Given the description of an element on the screen output the (x, y) to click on. 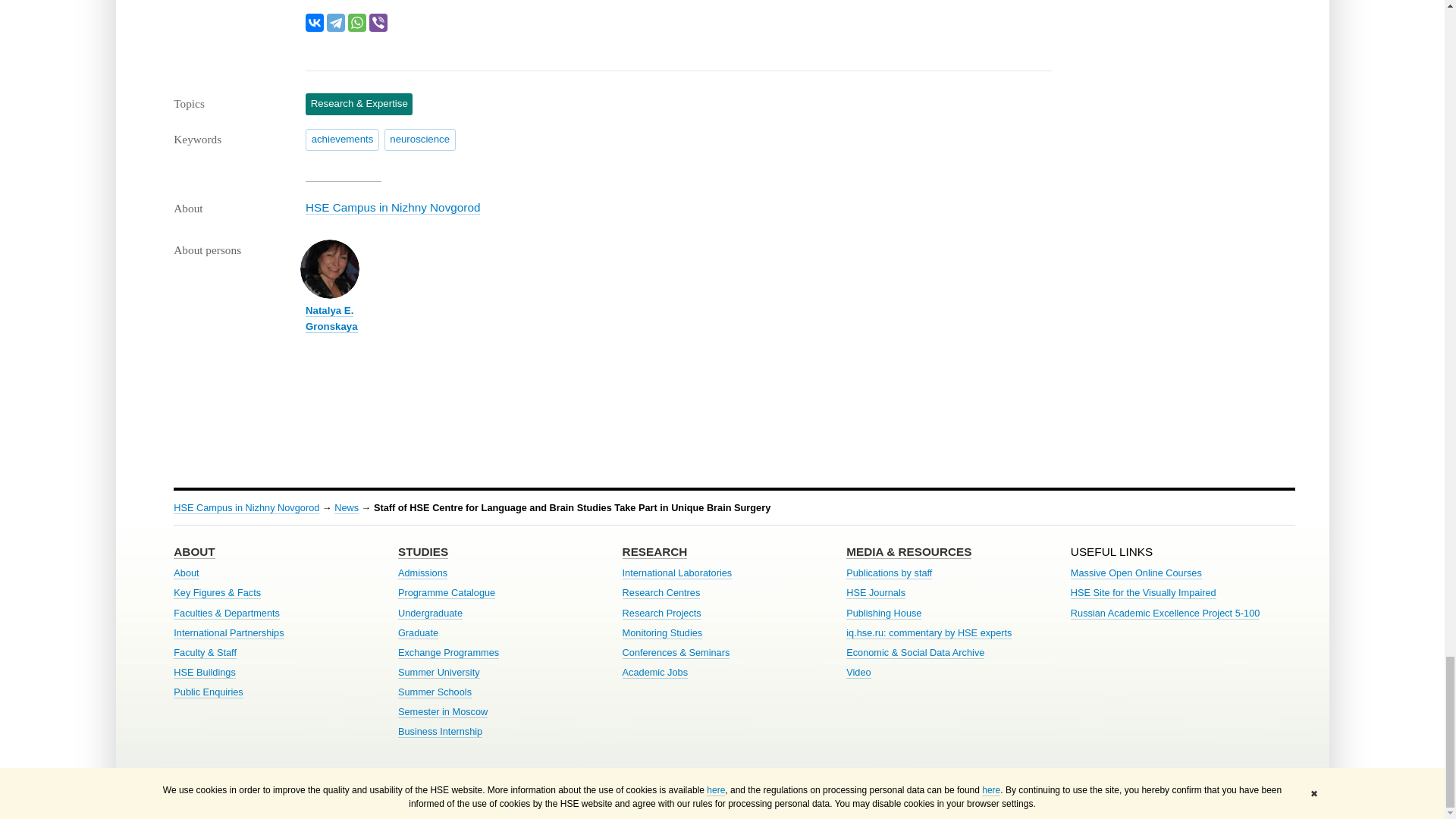
neuroscience (419, 138)
HSE Campus in Nizhny Novgorod (392, 207)
VKontakte (314, 22)
achievements (341, 138)
Telegram (335, 22)
Viber (378, 22)
WhatsApp (356, 22)
